Given the description of an element on the screen output the (x, y) to click on. 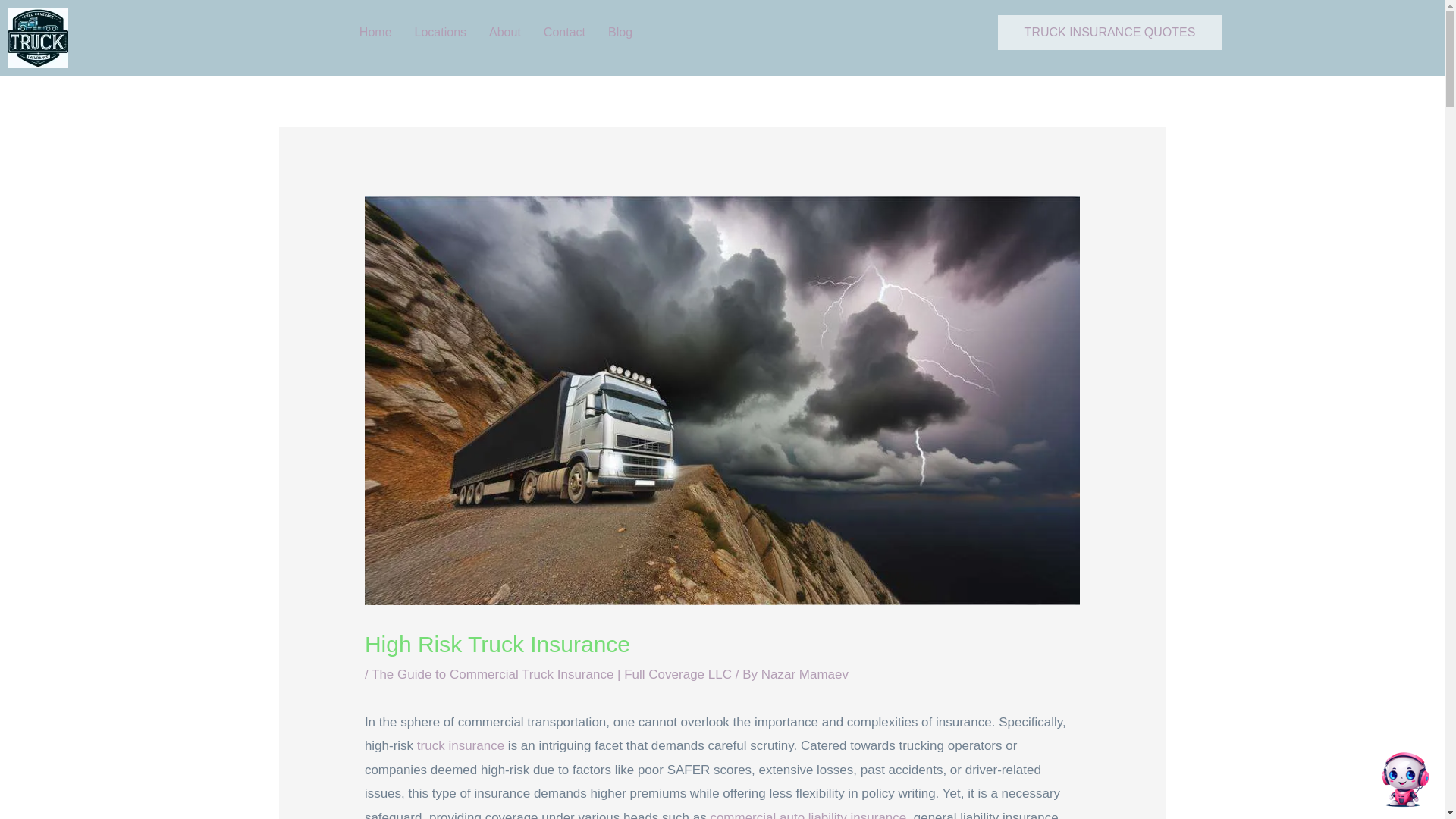
commercial auto liability insurance (807, 814)
View all posts by Nazar Mamaev (804, 674)
truck insurance (459, 745)
TRUCK INSURANCE QUOTES (1110, 32)
Home (375, 32)
Contact (564, 32)
Locations (441, 32)
Commercial Auto Liability Insurance (807, 814)
Truck Insurance (459, 745)
Blog (623, 32)
Nazar Mamaev (804, 674)
About (504, 32)
